Given the description of an element on the screen output the (x, y) to click on. 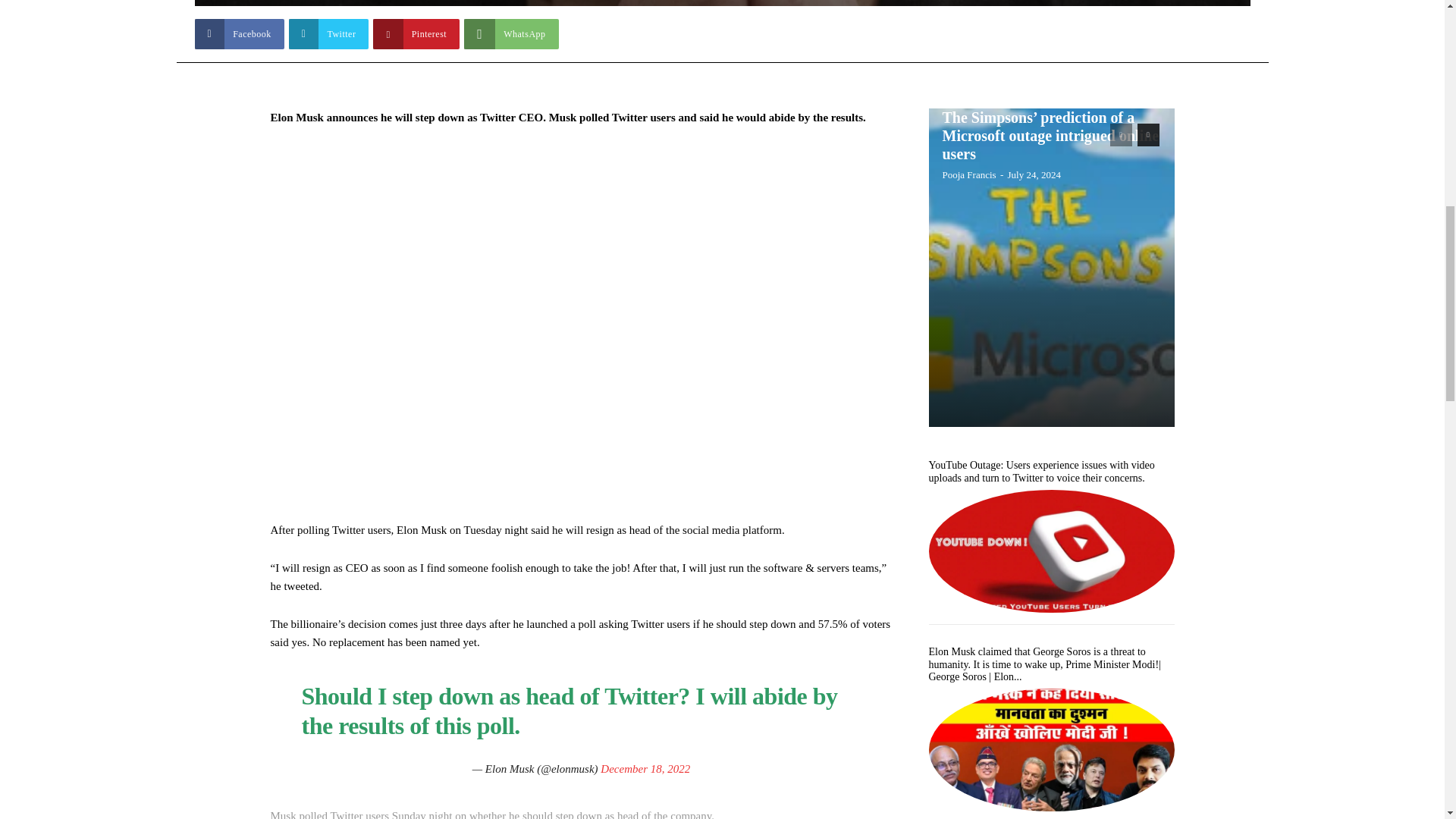
Facebook (238, 33)
Twitter (328, 33)
